Given the description of an element on the screen output the (x, y) to click on. 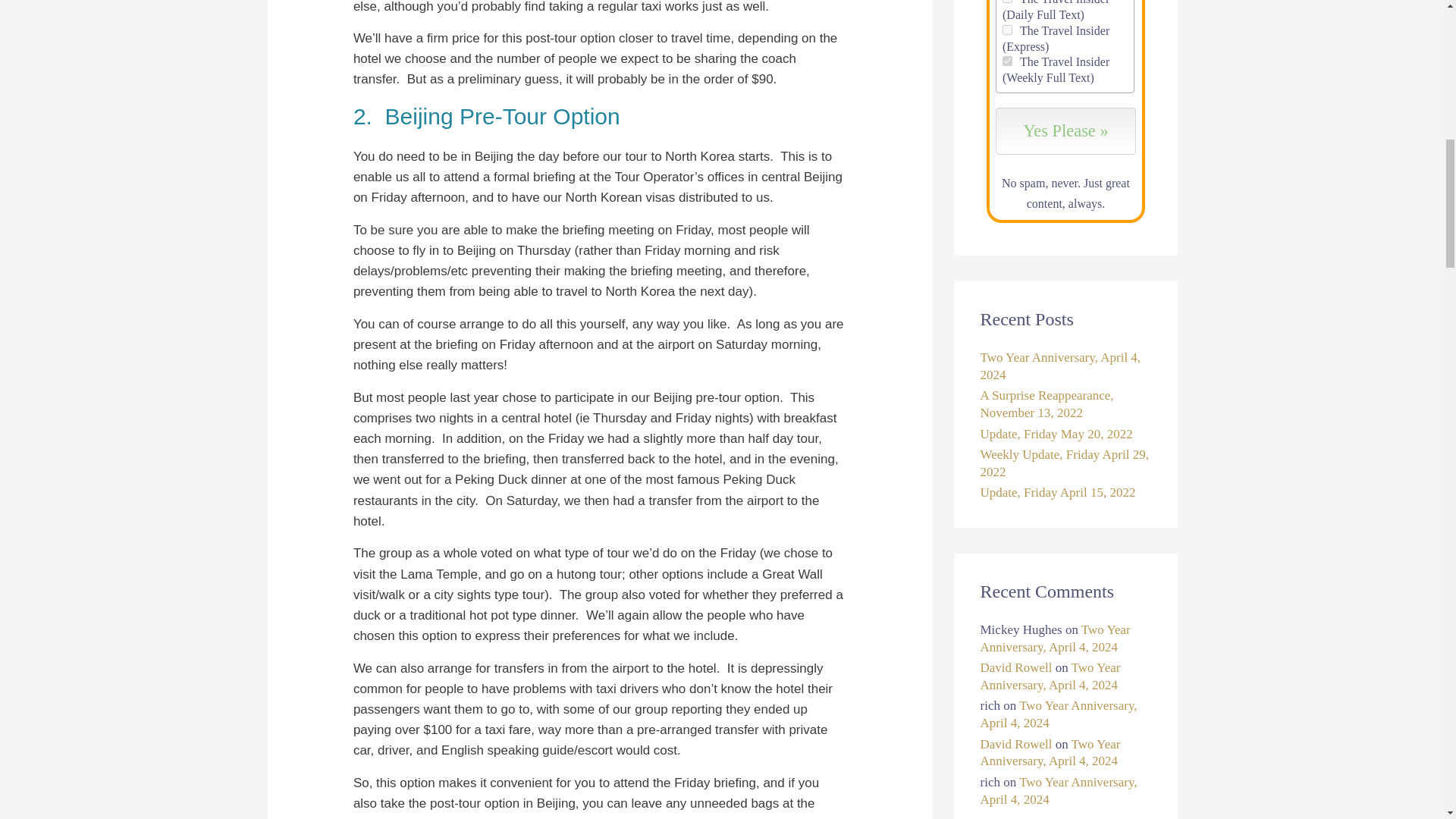
Choose the list you want to join (1007, 30)
679245 (1007, 30)
679239 (1007, 61)
click to join (1065, 130)
Choose the list you want to join (1007, 61)
